Given the description of an element on the screen output the (x, y) to click on. 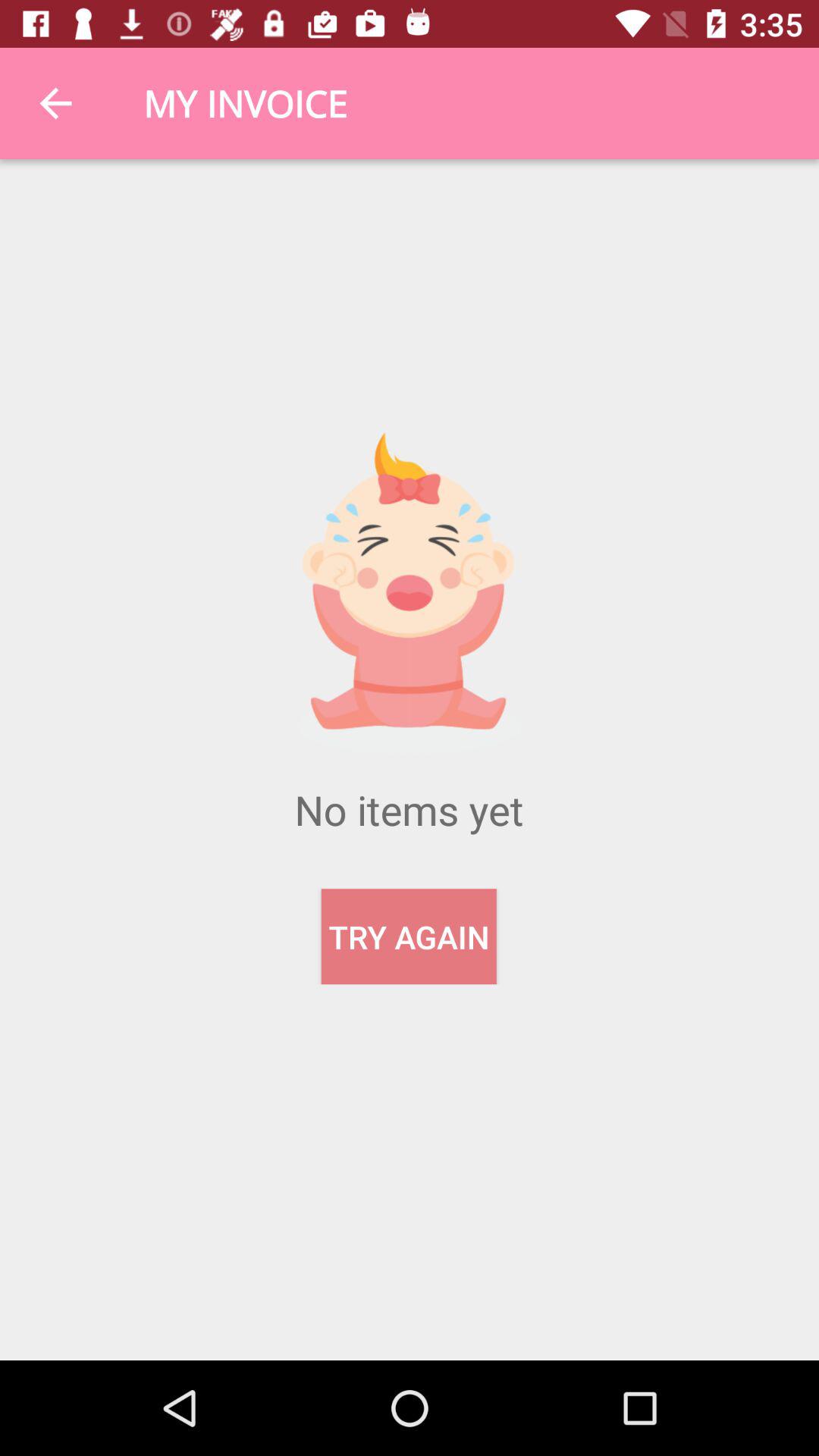
launch the item next to my invoice (55, 103)
